Given the description of an element on the screen output the (x, y) to click on. 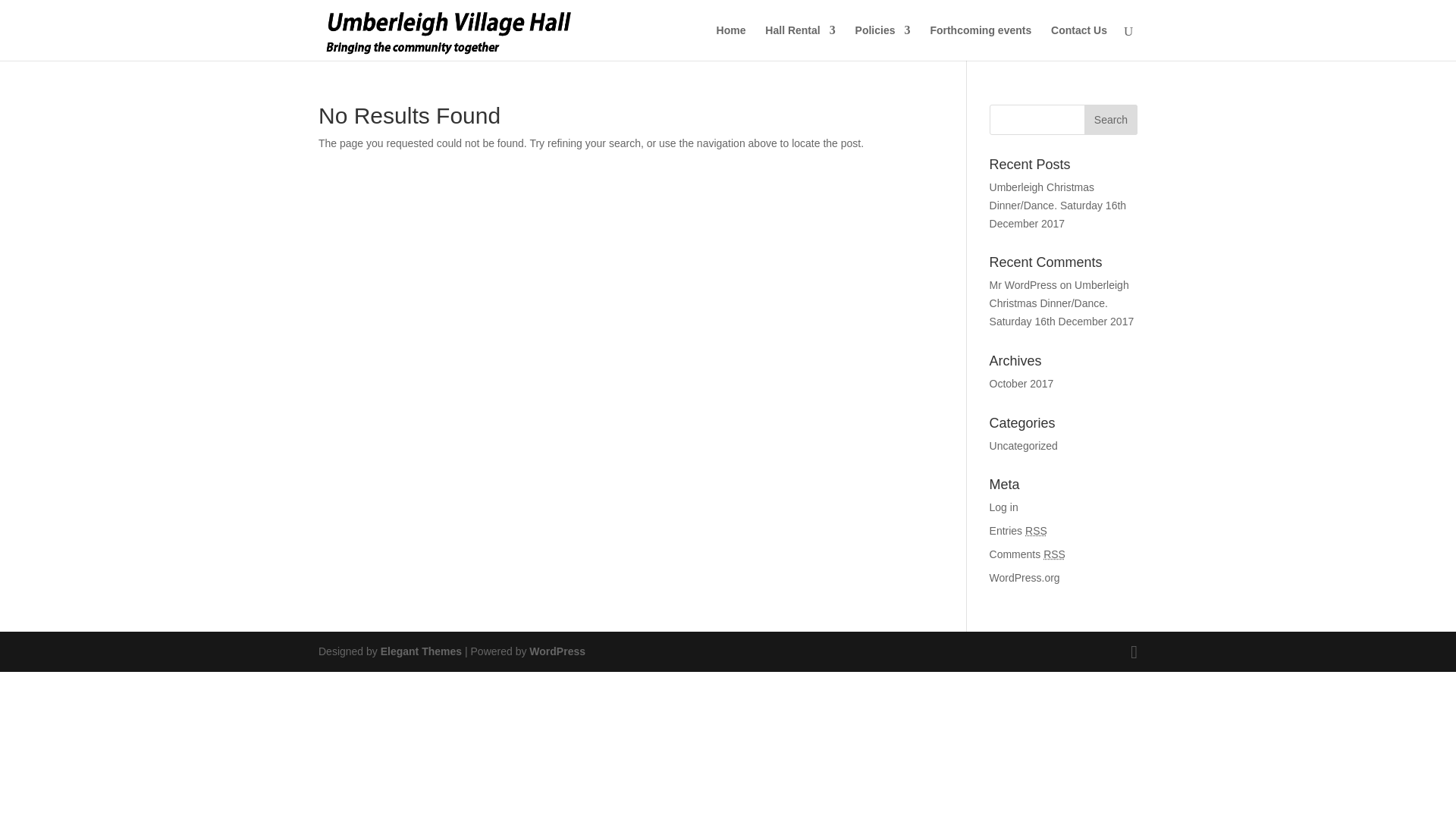
Forthcoming events (980, 42)
Log in (1003, 507)
Uncategorized (1024, 445)
Really Simple Syndication (1054, 553)
Search (1110, 119)
Policies (883, 42)
October 2017 (1022, 383)
Mr WordPress (1023, 285)
Search (1110, 119)
